Given the description of an element on the screen output the (x, y) to click on. 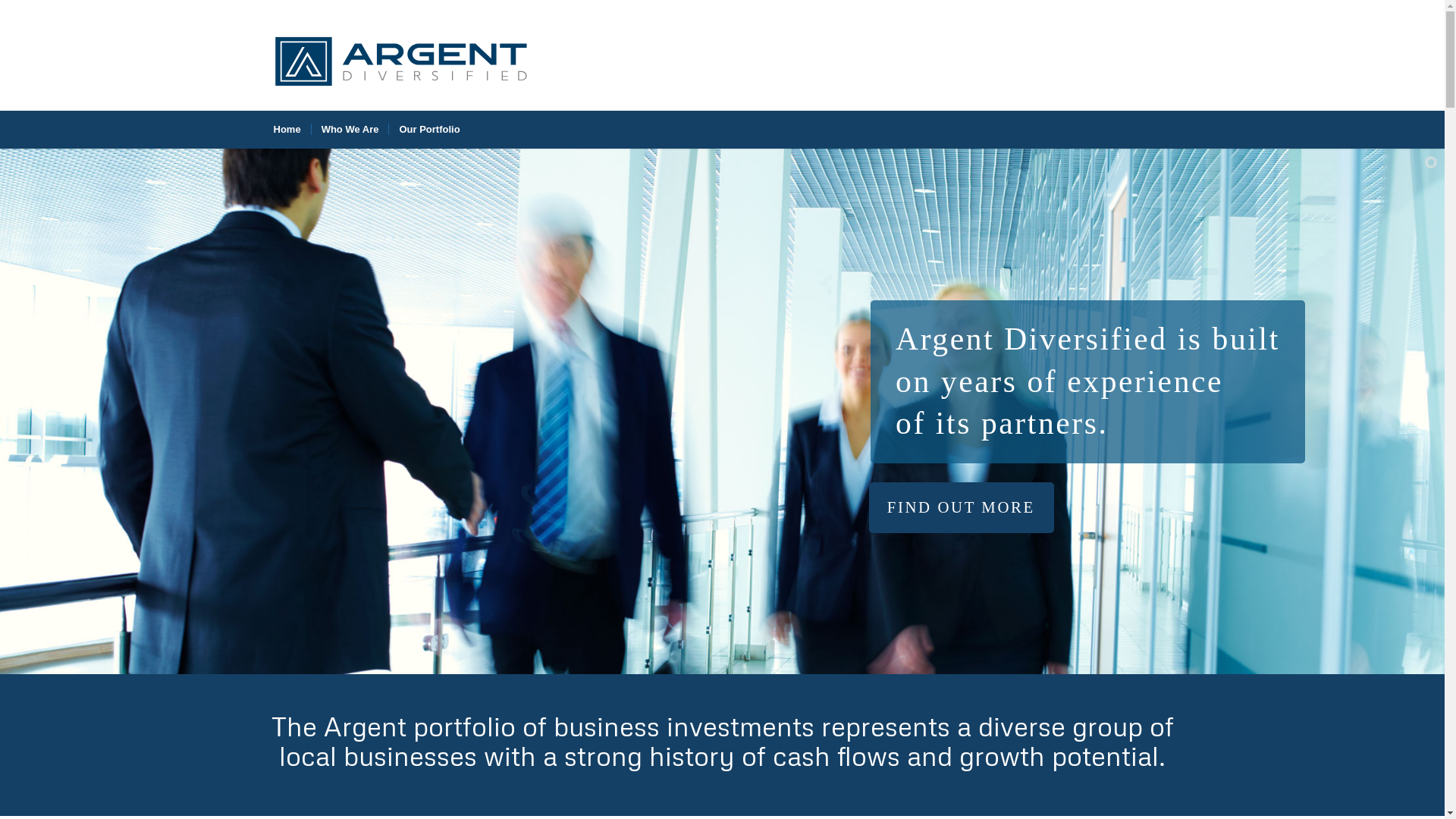
Our Portfolio Element type: text (428, 129)
Home Element type: text (286, 129)
Who We Are Element type: text (349, 129)
